Given the description of an element on the screen output the (x, y) to click on. 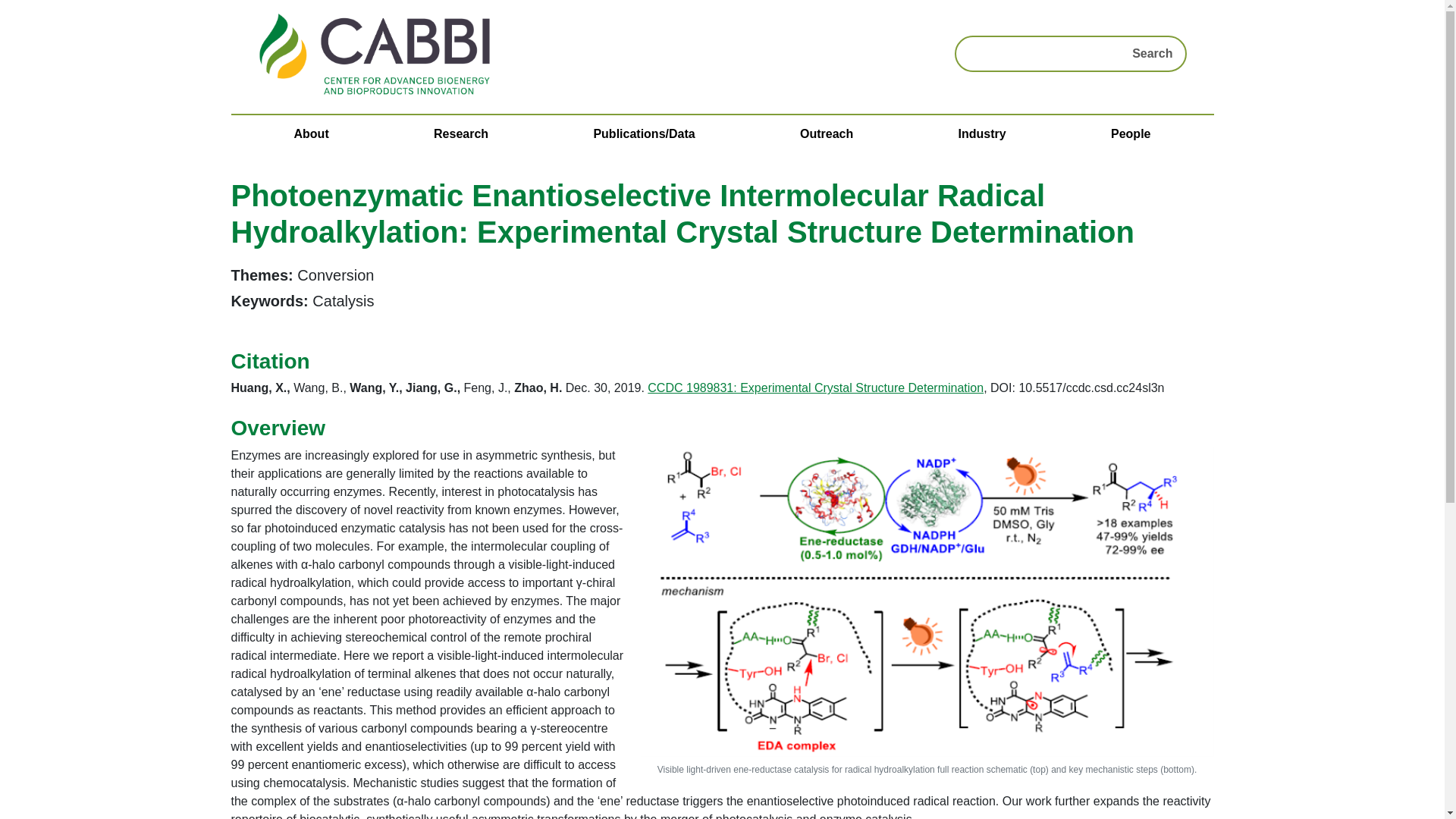
Search (1151, 53)
Outreach (826, 134)
People (1130, 134)
Search (1151, 53)
Search (1151, 53)
About (310, 134)
Research (461, 134)
Industry (981, 134)
